Given the description of an element on the screen output the (x, y) to click on. 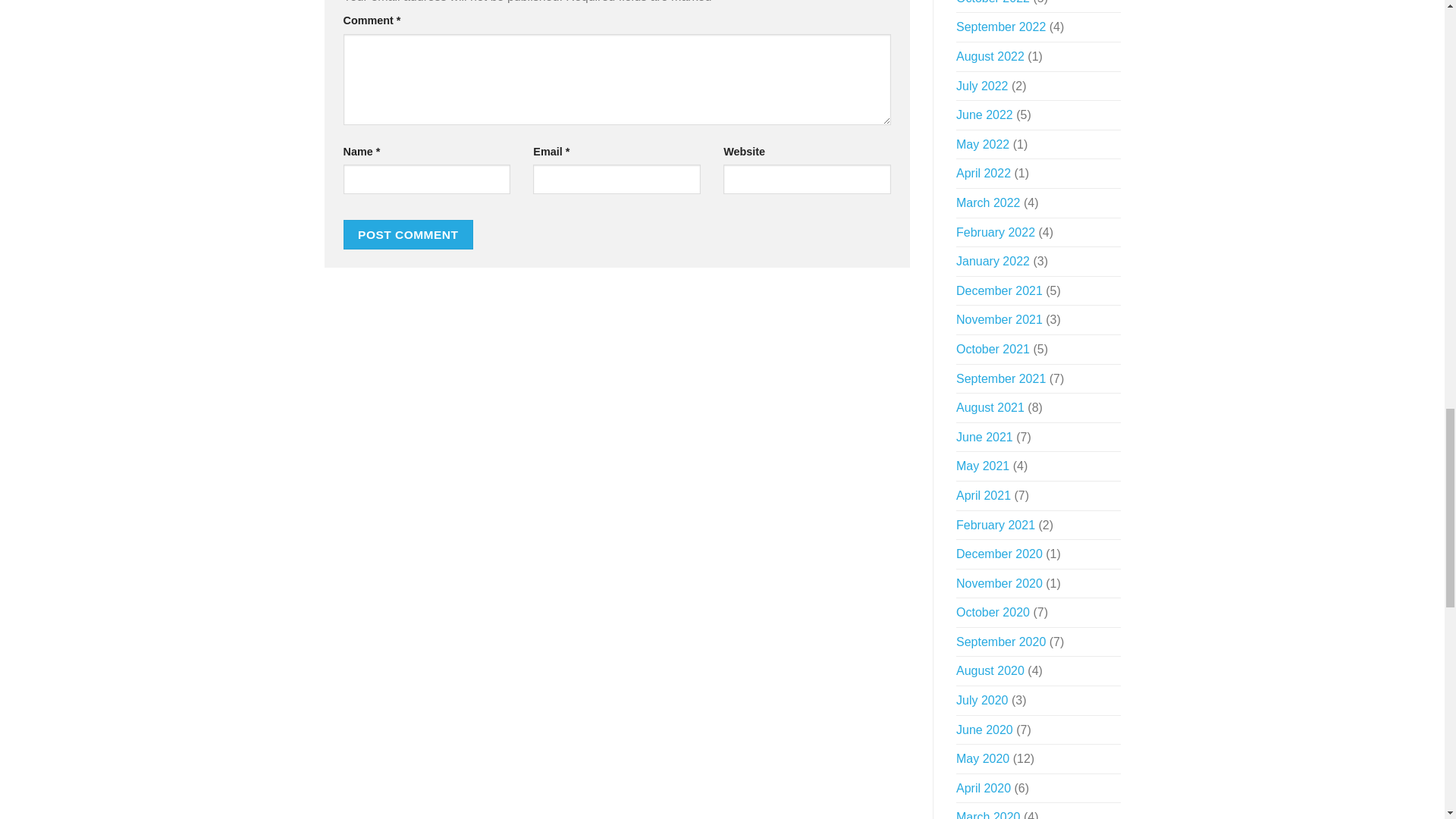
Post Comment (407, 234)
Post Comment (407, 234)
